Given the description of an element on the screen output the (x, y) to click on. 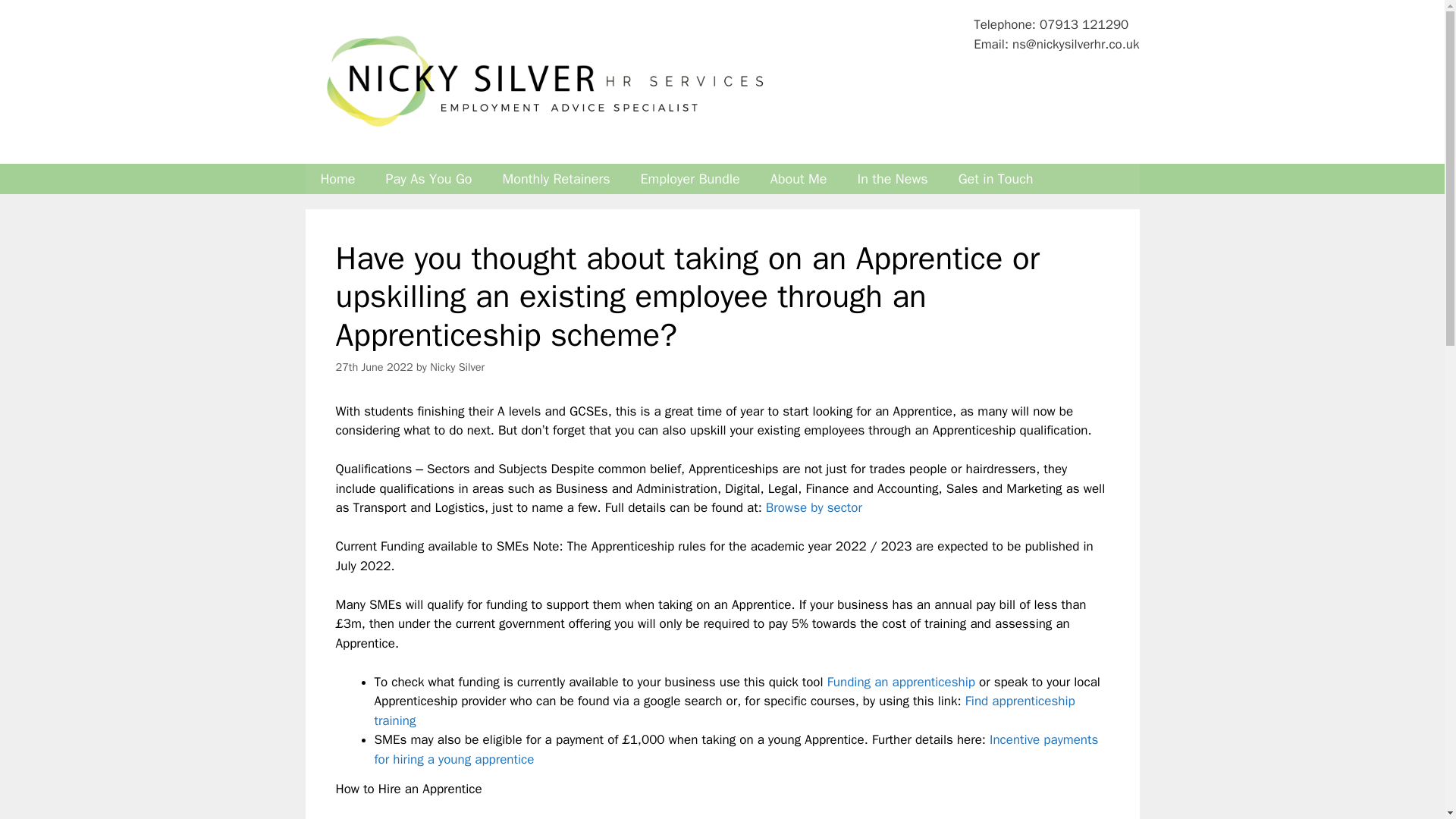
Get in Touch (995, 178)
Funding an apprenticeship (901, 682)
In the News (891, 178)
Browse by sector (813, 507)
Pay As You Go (429, 178)
Nicky Silver (456, 366)
Home (336, 178)
Employer Bundle (690, 178)
About Me (799, 178)
Incentive payments for hiring a young apprentice (736, 749)
